Given the description of an element on the screen output the (x, y) to click on. 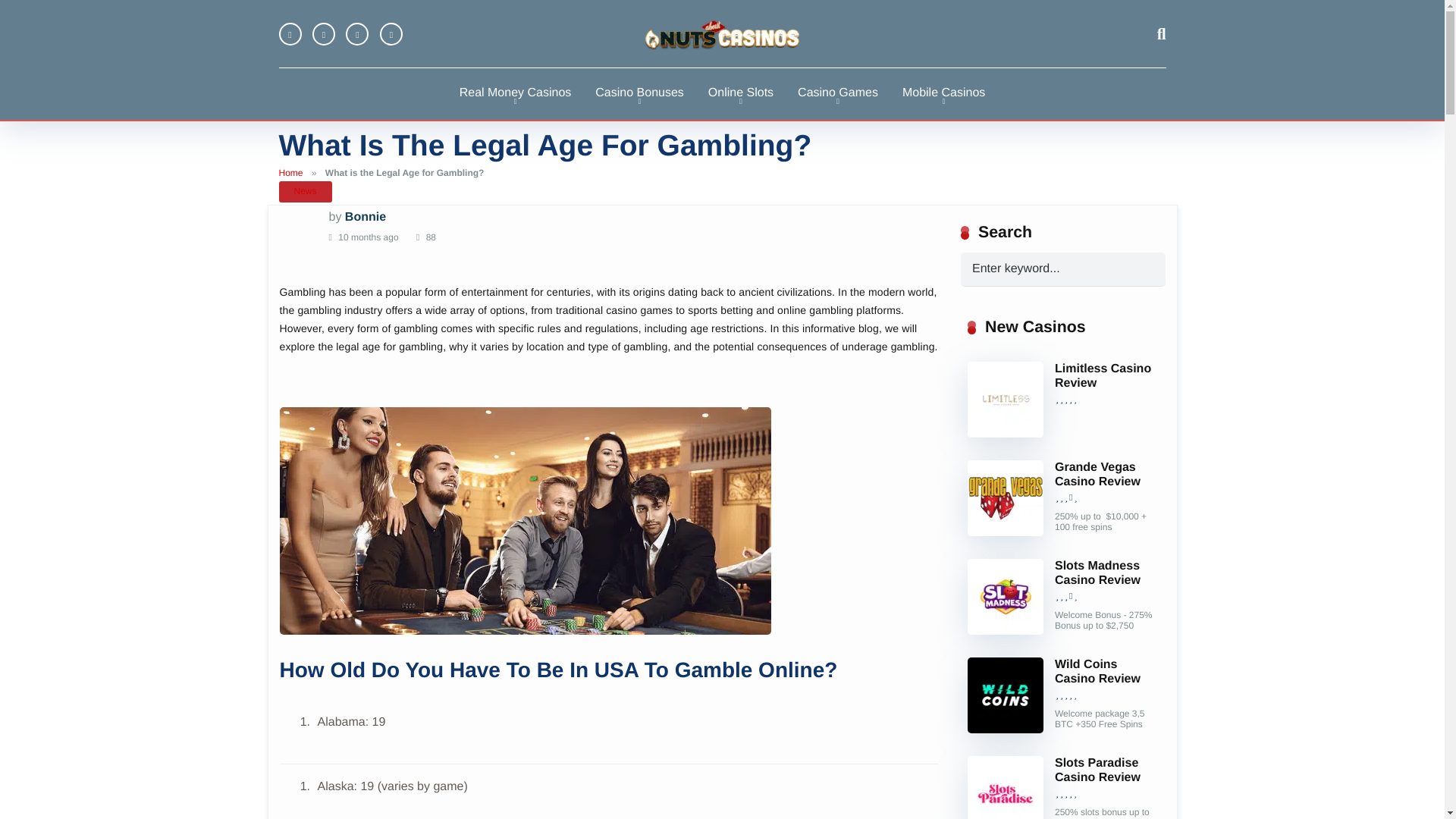
Real Money Casinos (514, 93)
Limitless Casino Review (1102, 376)
Grande Vegas Casino Review (1097, 474)
Grande Vegas Casino Review (1005, 532)
Casino Bonuses (639, 93)
Limitless Casino Review (1005, 433)
Reddit (391, 33)
Online Slots (740, 93)
Posts by Bonnie (365, 216)
Nuts About Casinos (722, 33)
